Given the description of an element on the screen output the (x, y) to click on. 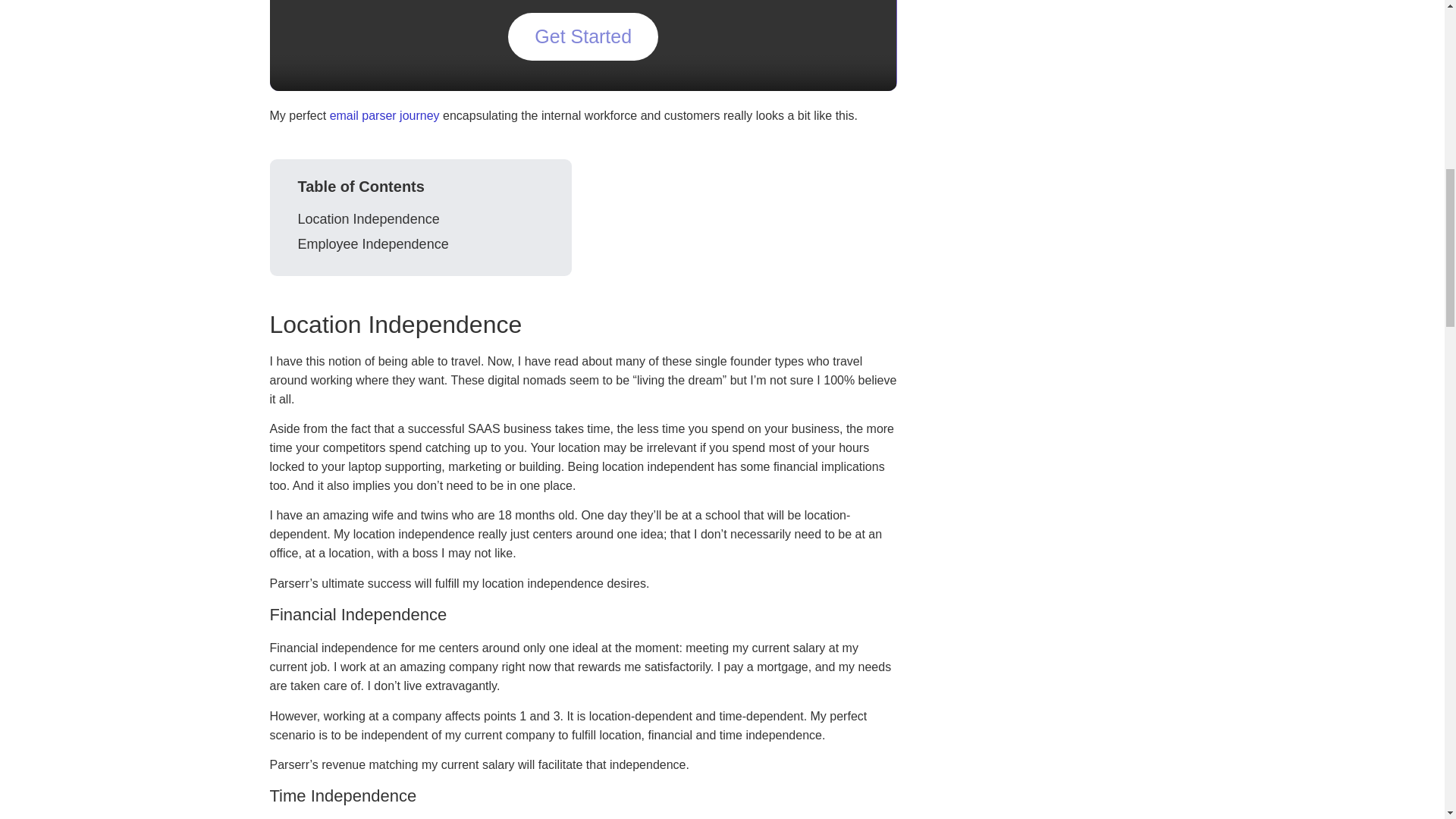
email parser journey (384, 115)
Location Independence (368, 219)
Get Started (583, 36)
